Given the description of an element on the screen output the (x, y) to click on. 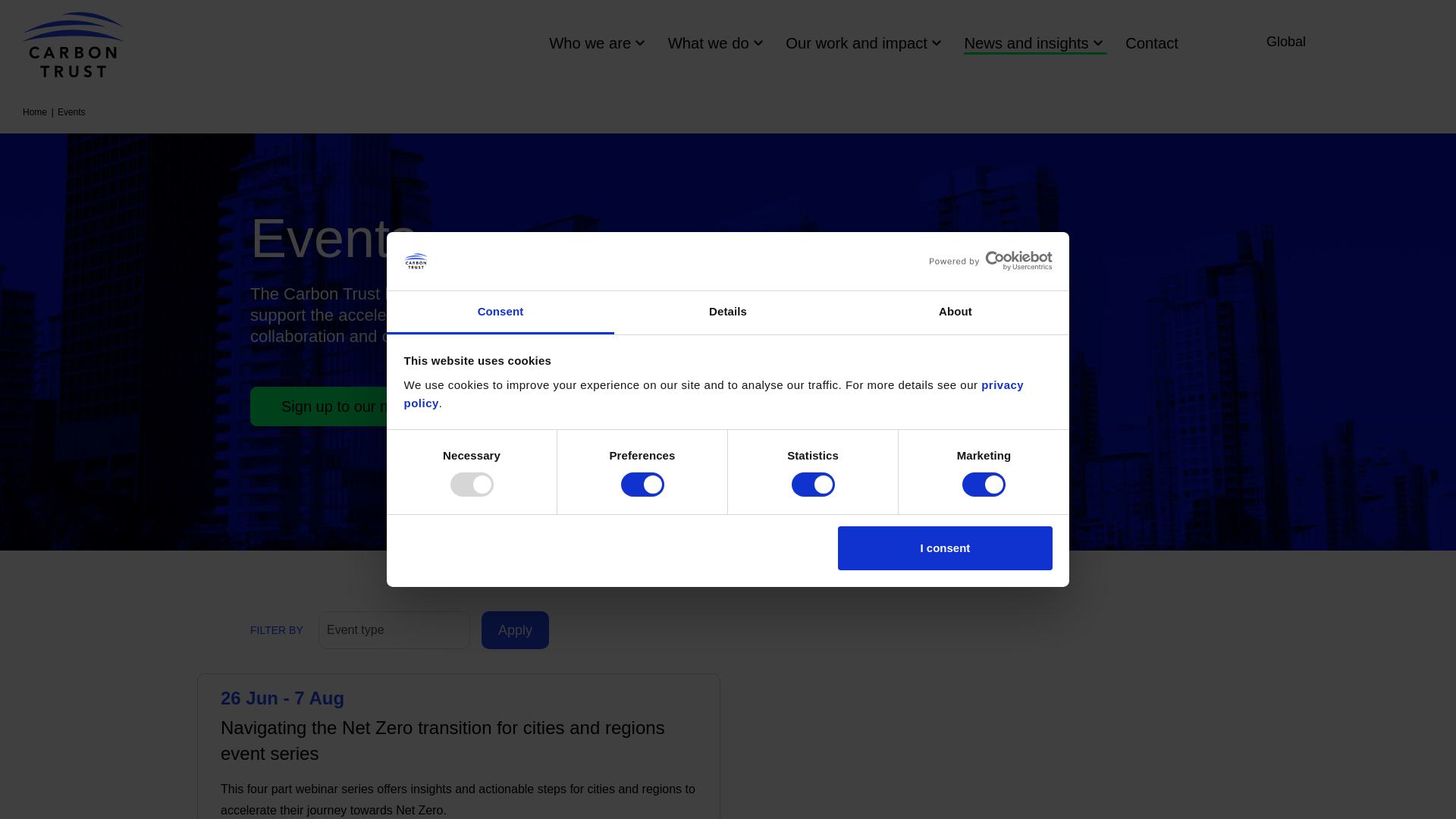
Consent (500, 312)
Details (727, 312)
privacy policy (713, 393)
About (954, 312)
Apply (514, 629)
